Given the description of an element on the screen output the (x, y) to click on. 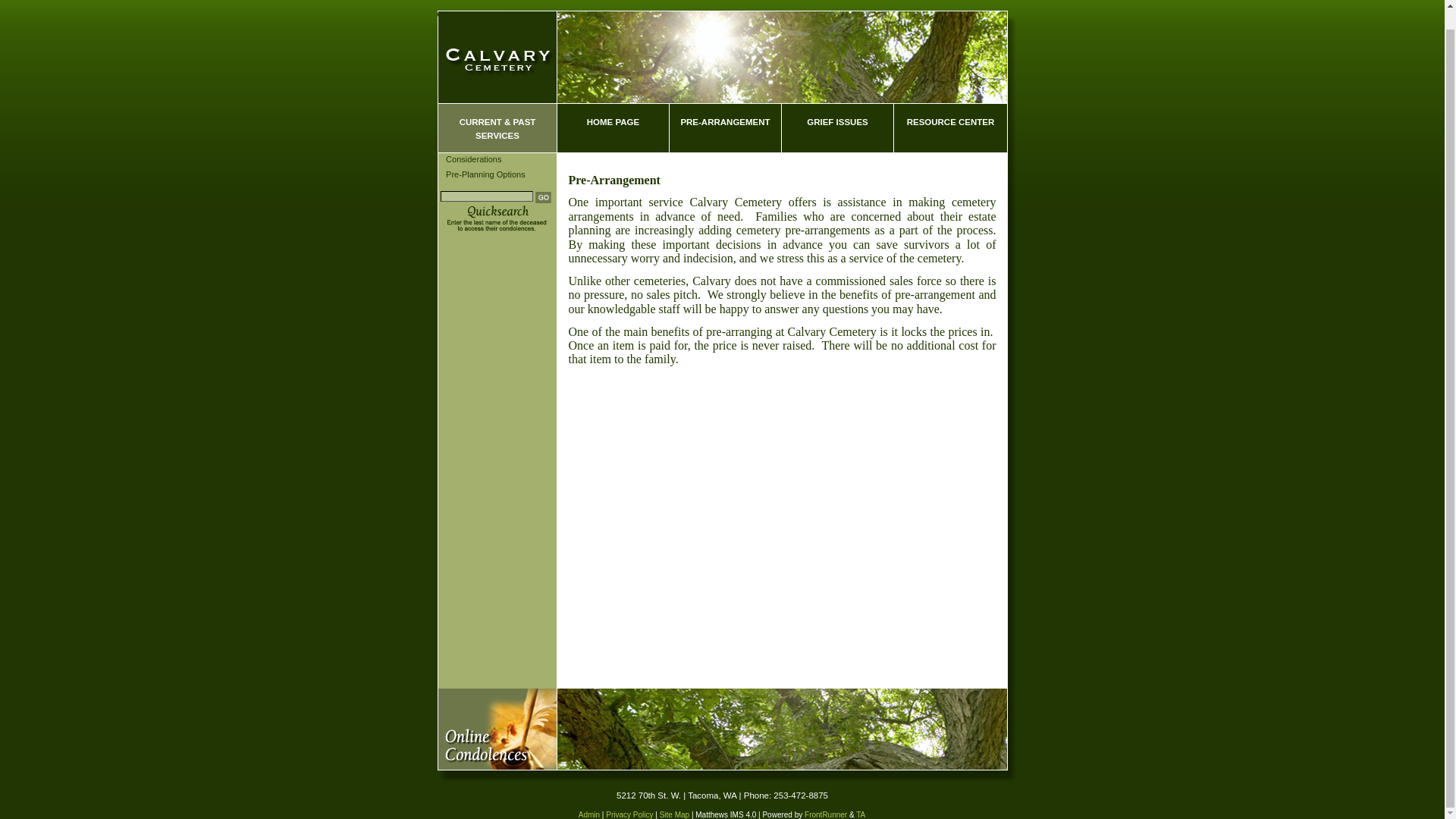
RESOURCE CENTER (950, 128)
GRIEF ISSUES (836, 128)
HOME PAGE (612, 128)
PRE-ARRANGEMENT (724, 128)
